Given the description of an element on the screen output the (x, y) to click on. 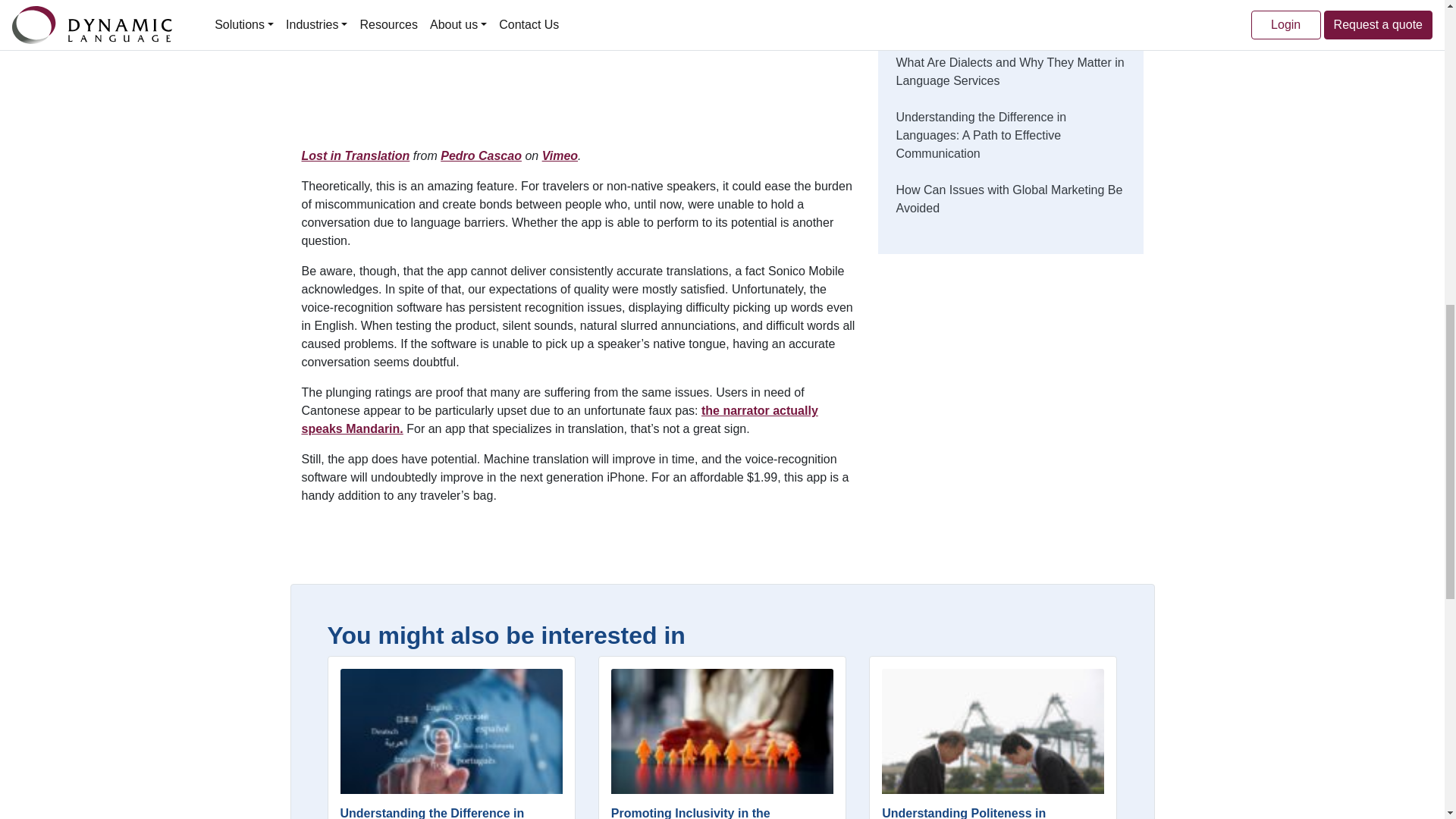
Pedro Cascao (481, 155)
the narrator actually speaks Mandarin. (559, 419)
Vimeo (559, 155)
Lost in Translation (355, 155)
